Given the description of an element on the screen output the (x, y) to click on. 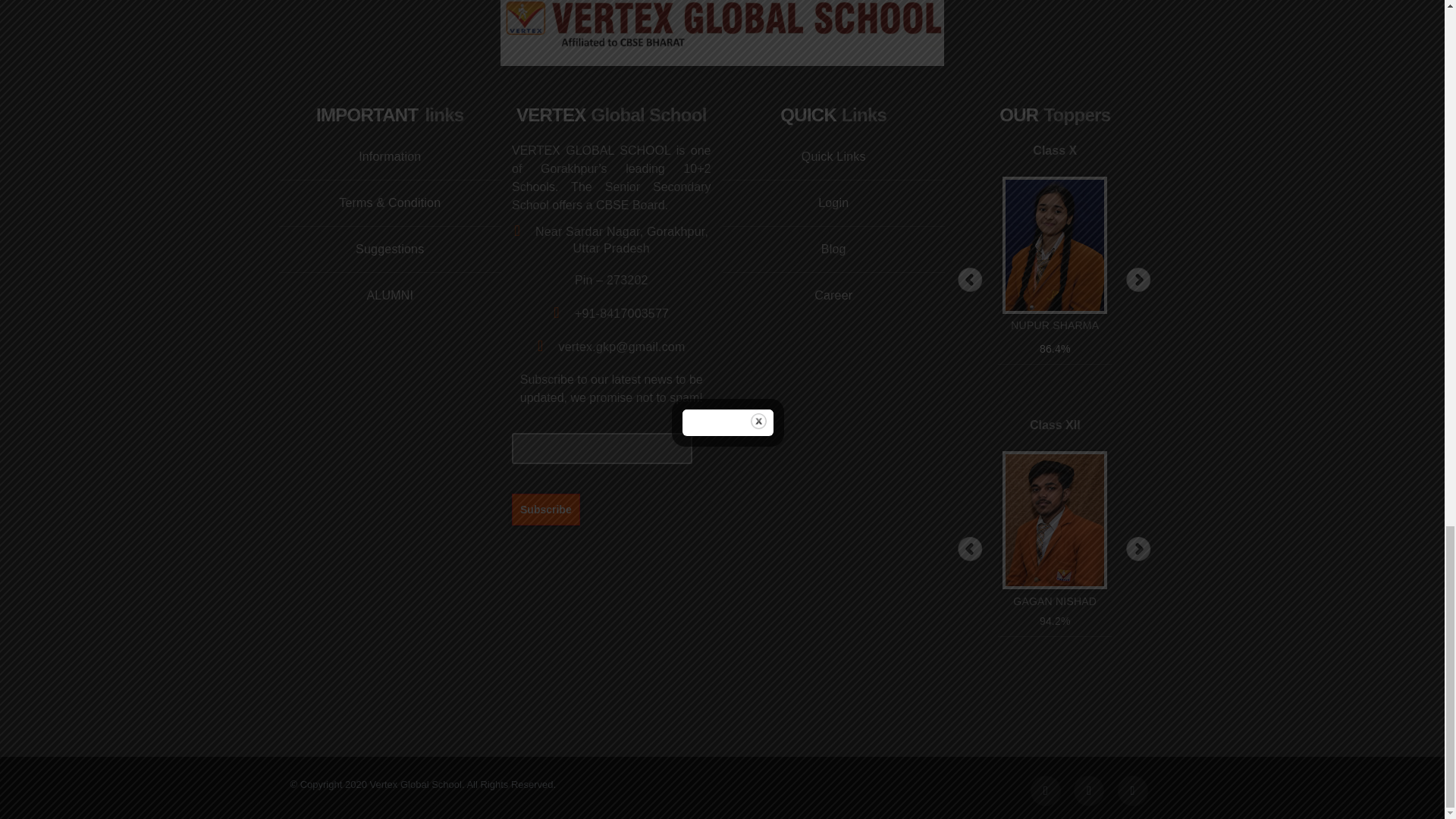
Subscribe (545, 508)
